Given the description of an element on the screen output the (x, y) to click on. 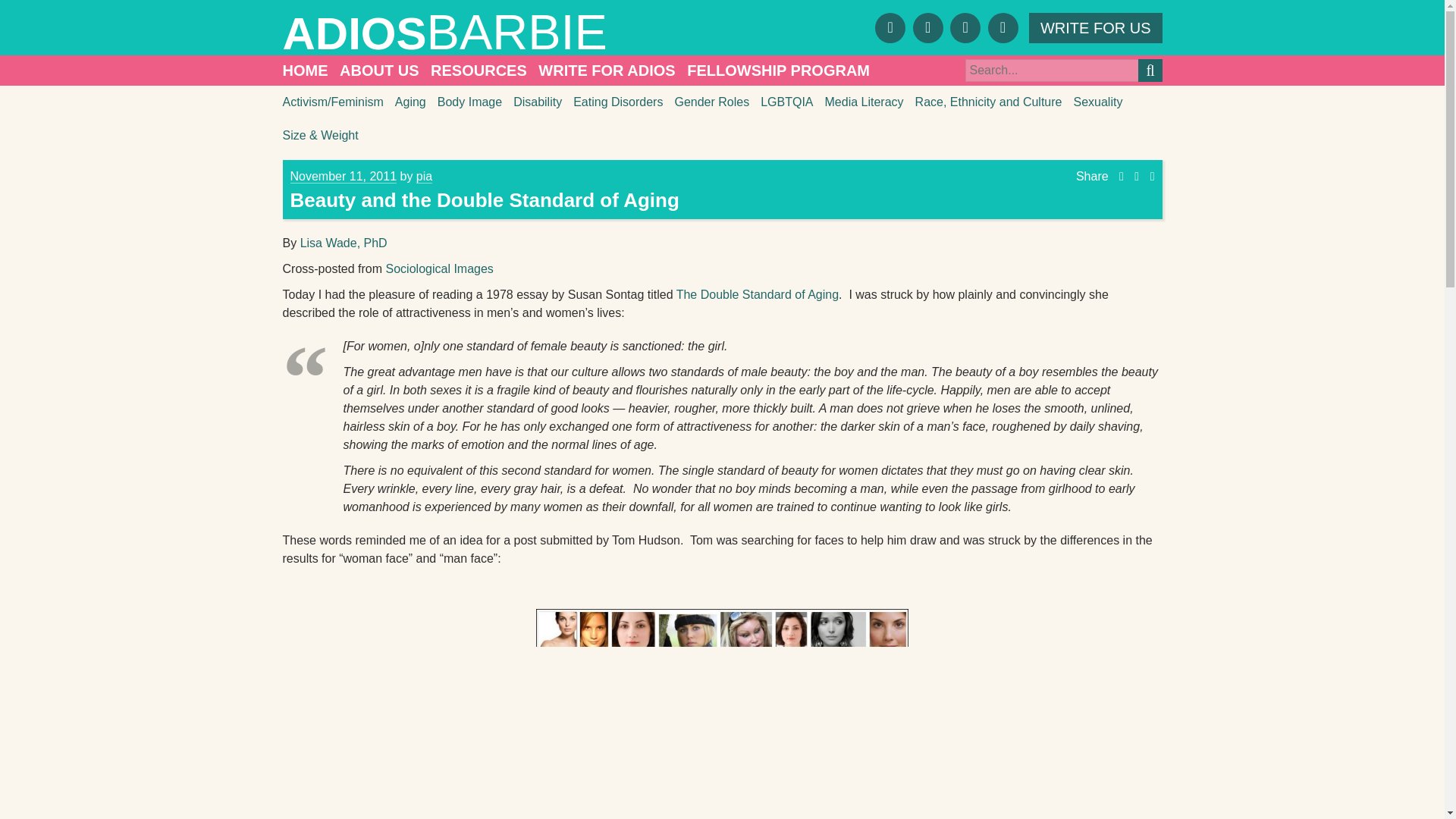
HOME (304, 70)
Sociological Images (439, 268)
WRITE FOR US (1095, 27)
WRITE FOR ADIOS (606, 70)
ABOUT US (379, 70)
November 11, 2011 (342, 176)
RESOURCES (478, 70)
FELLOWSHIP PROGRAM (778, 70)
ADIOSBARBIE (502, 31)
pia (424, 176)
